Given the description of an element on the screen output the (x, y) to click on. 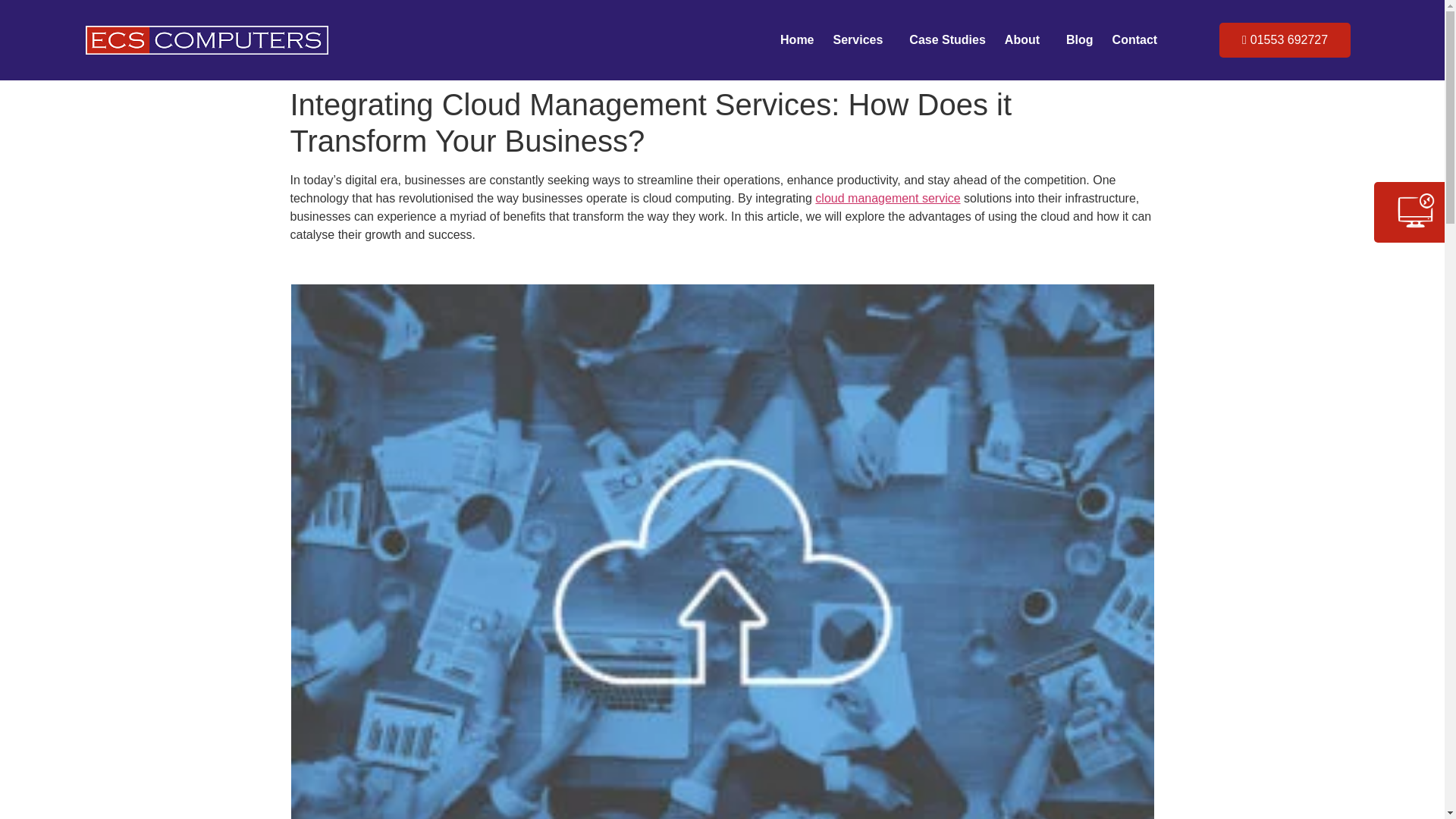
About (1025, 39)
01553 692727 (1285, 39)
Contact (1134, 39)
Case Studies (946, 39)
Services (860, 39)
